Given the description of an element on the screen output the (x, y) to click on. 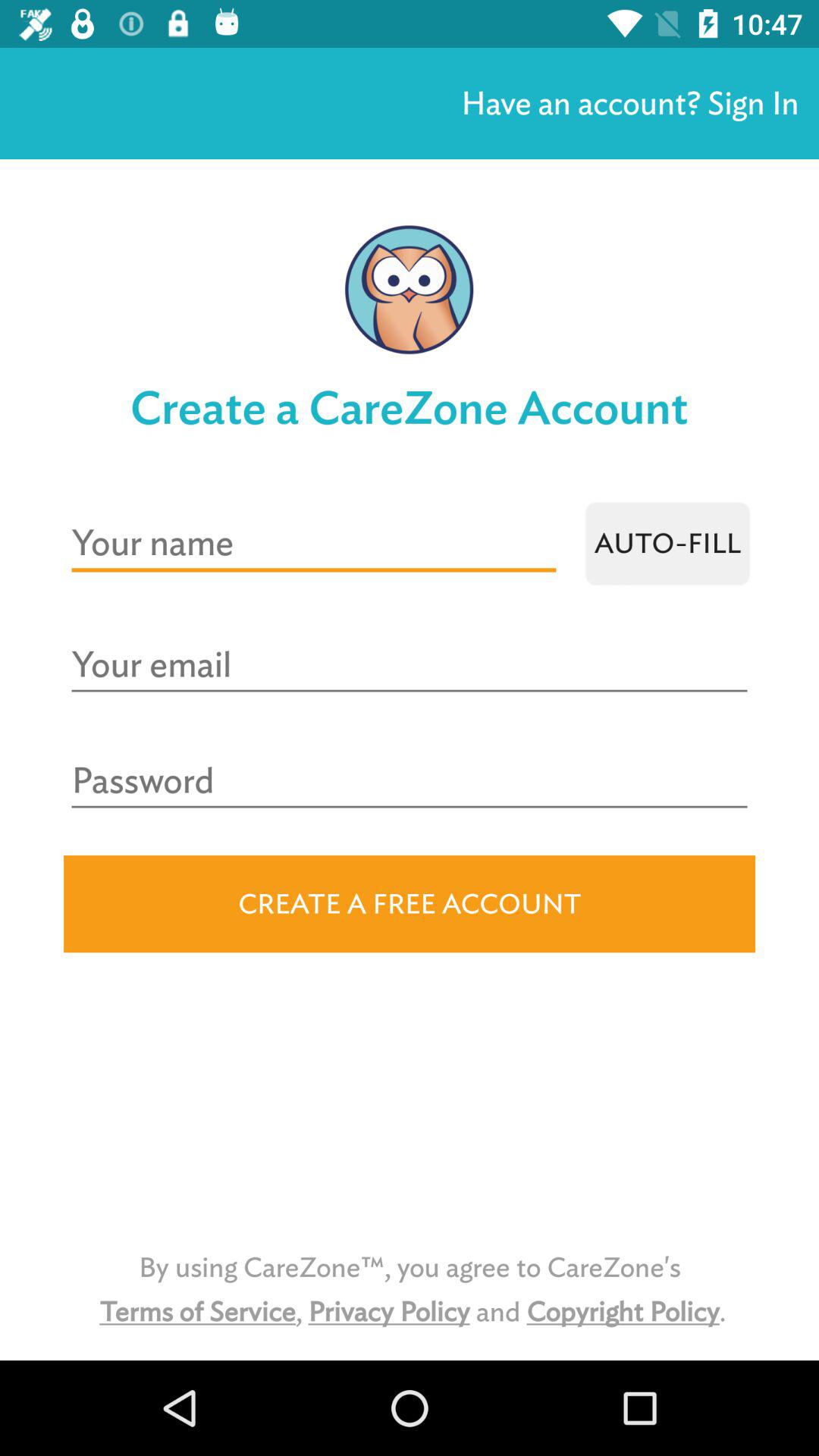
launch have an account at the top right corner (630, 103)
